Given the description of an element on the screen output the (x, y) to click on. 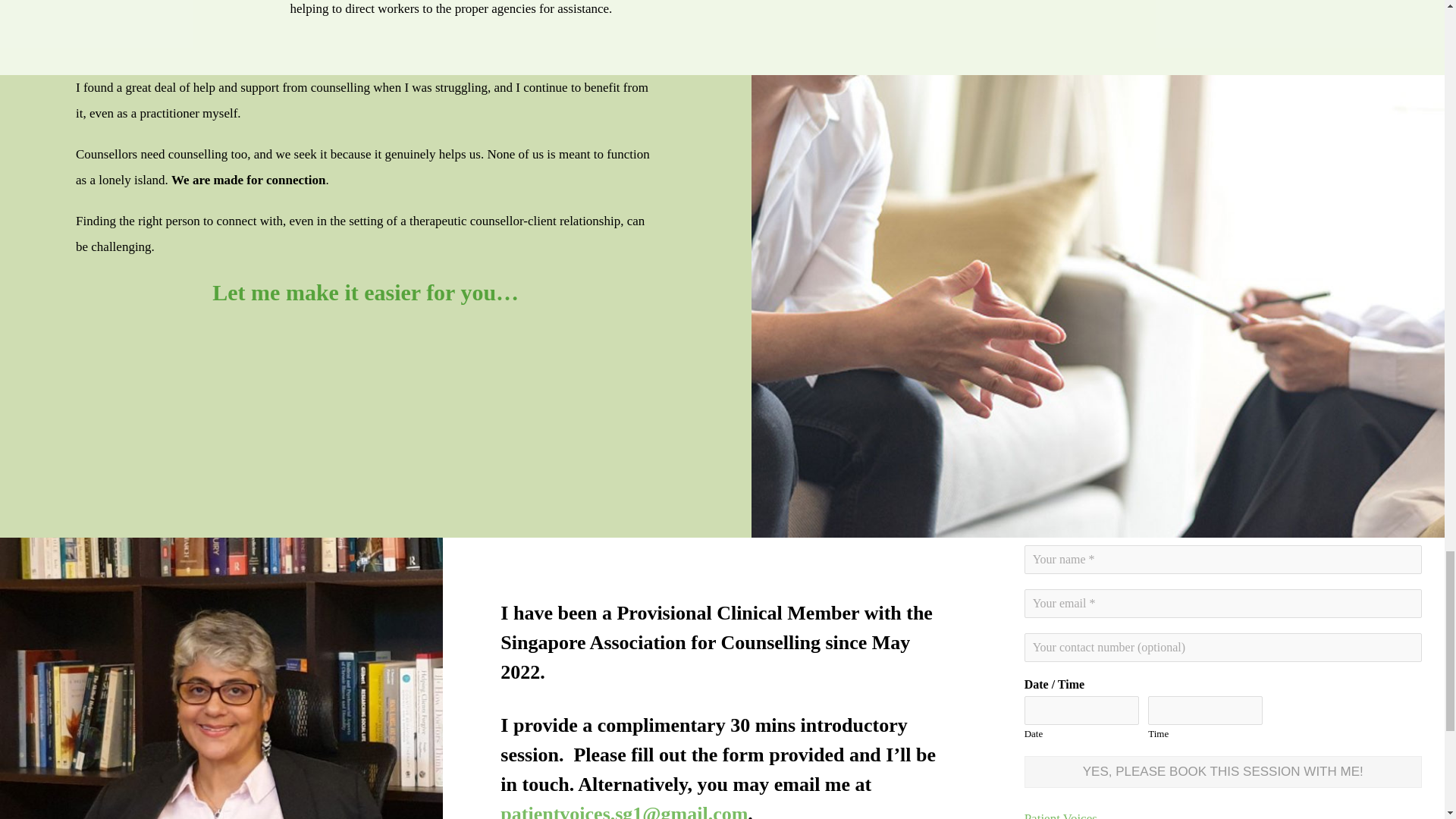
Pavitar-Kaur-Gill-patients-voices-counsellor-counselling (221, 678)
YES, PLEASE BOOK THIS SESSION WITH ME! (1223, 771)
Patient Voices (1061, 815)
